Given the description of an element on the screen output the (x, y) to click on. 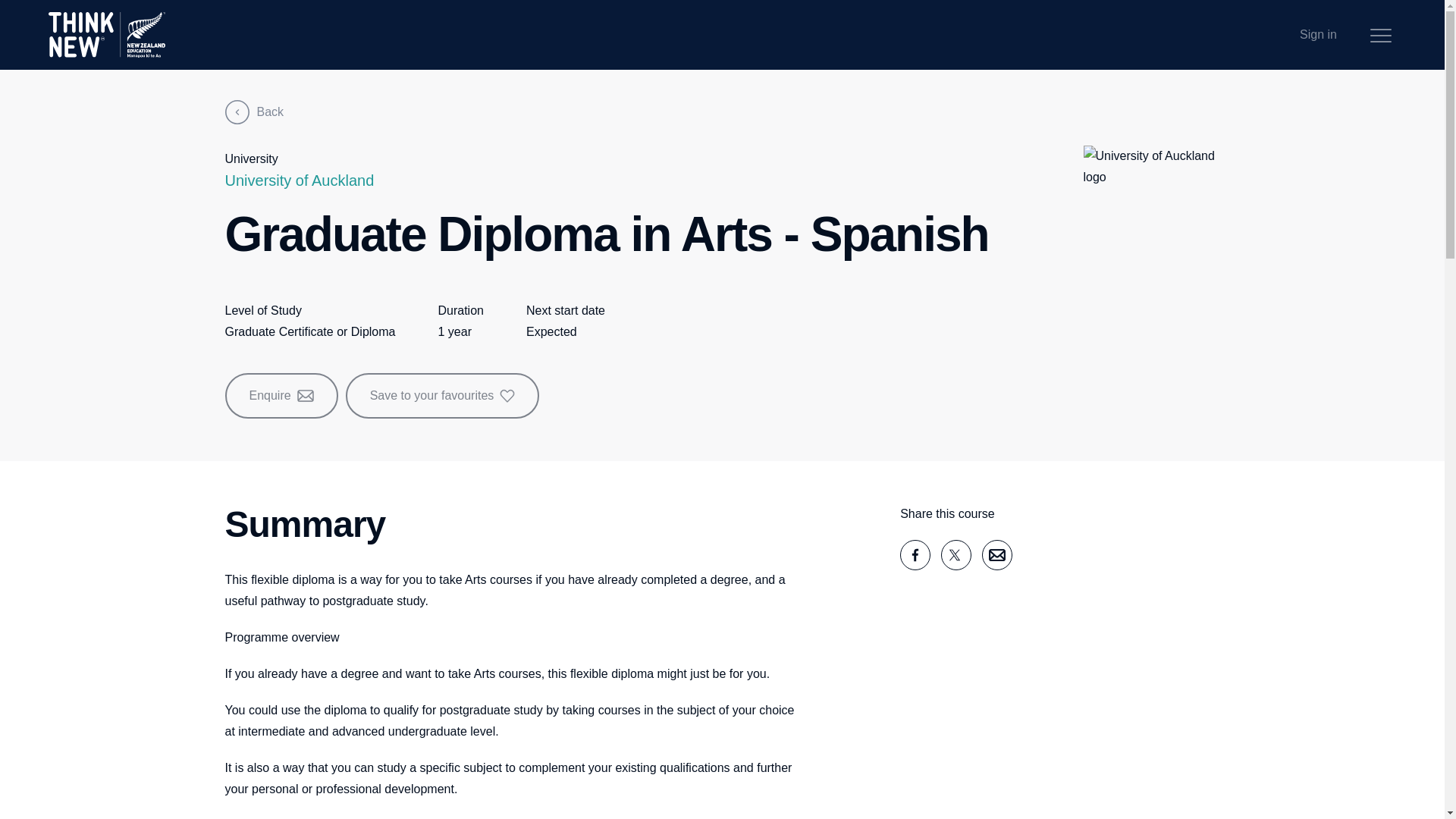
Back (253, 111)
University of Auckland (299, 180)
Sign in (1317, 34)
Enquire (280, 395)
Save to your favourites (443, 395)
New Zealand Education - Think New Logo (106, 34)
New Zealand Education - Think New Logo (106, 34)
